Given the description of an element on the screen output the (x, y) to click on. 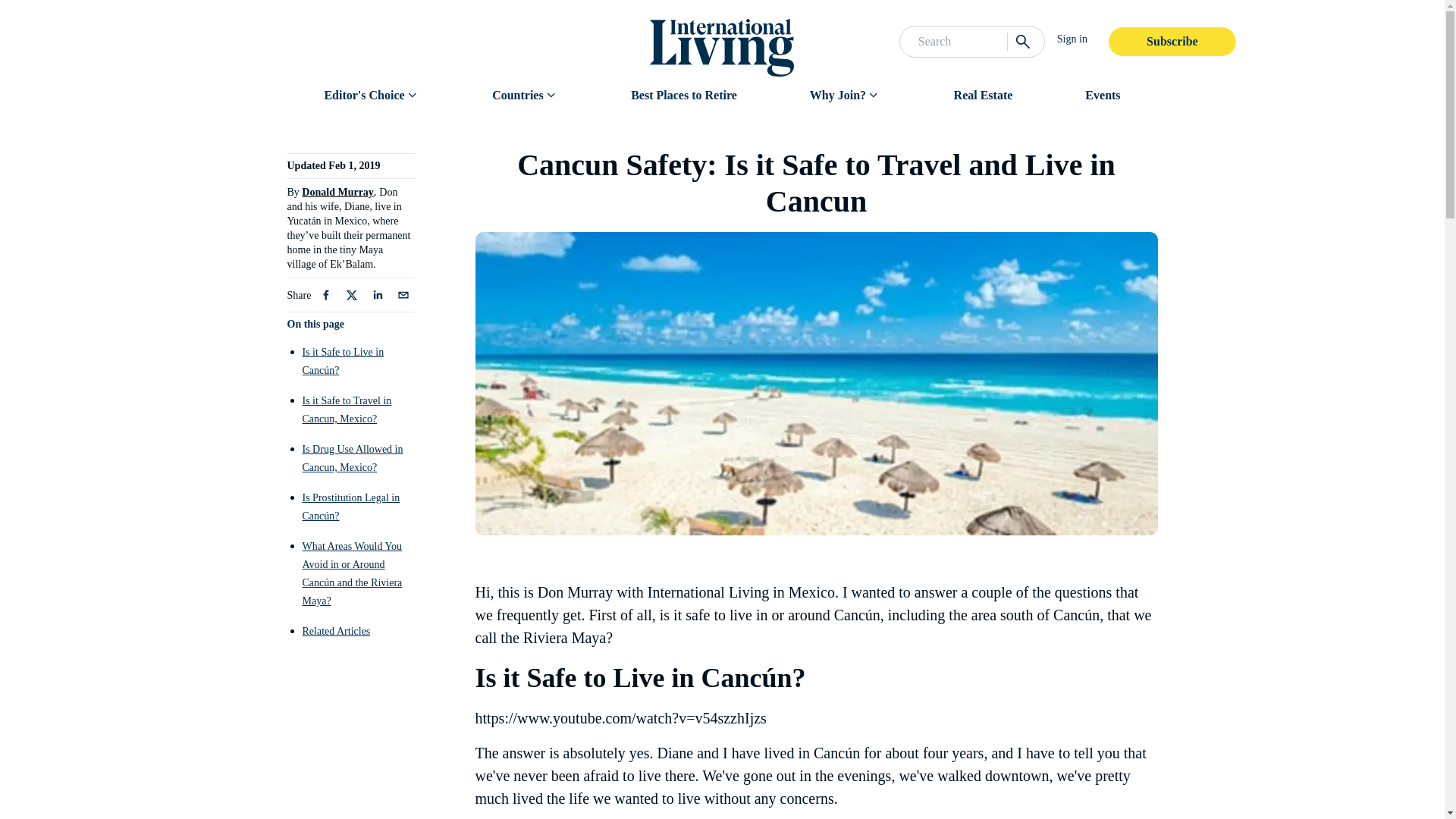
Sign in (1078, 39)
Subscribe (1172, 41)
Sign in (1072, 39)
Countries (517, 95)
